Given the description of an element on the screen output the (x, y) to click on. 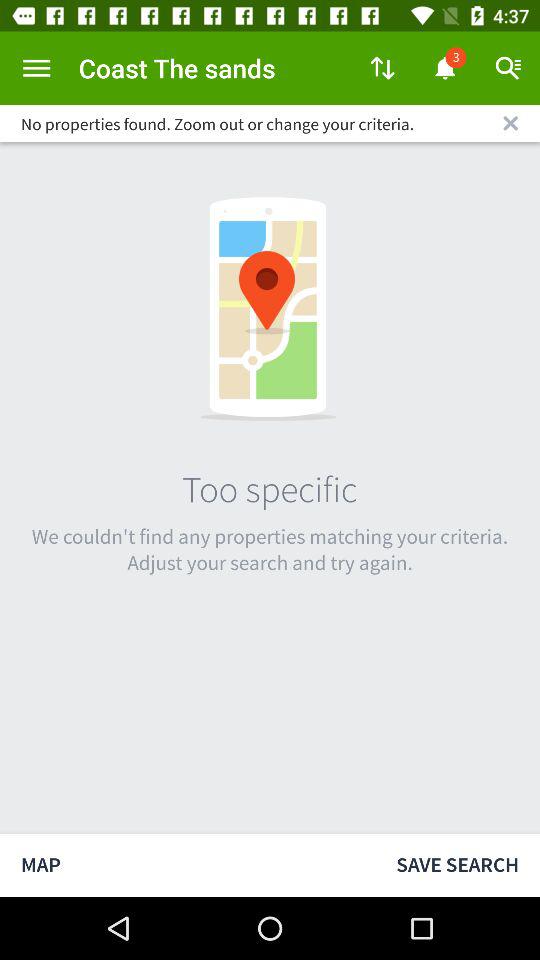
launch item below we couldn t icon (187, 864)
